Given the description of an element on the screen output the (x, y) to click on. 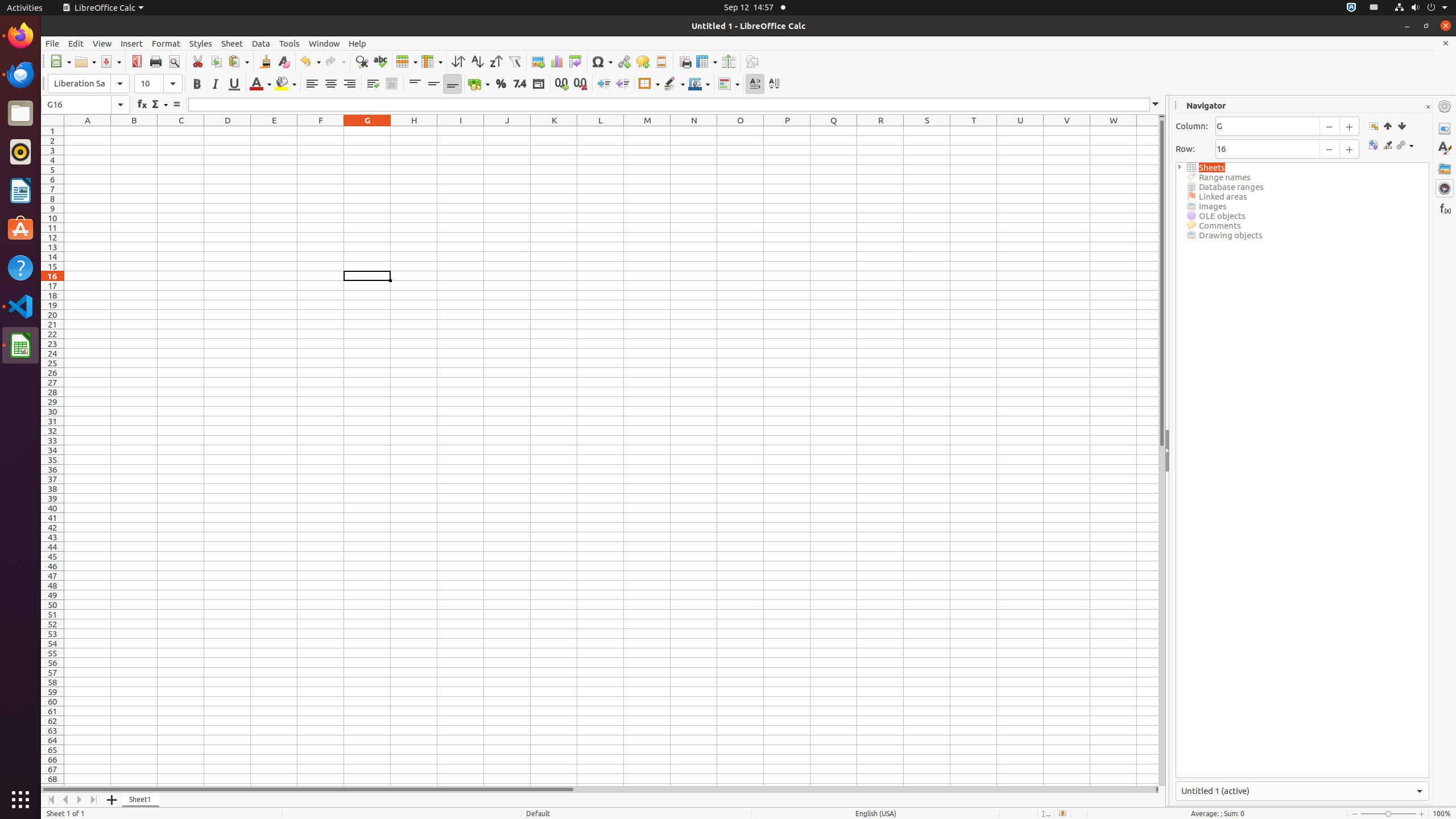
Data Range Element type: push-button (1373, 125)
H1 Element type: table-cell (413, 130)
Gallery Element type: radio-button (1444, 168)
Background Color Element type: push-button (285, 83)
Rhythmbox Element type: push-button (20, 151)
